Given the description of an element on the screen output the (x, y) to click on. 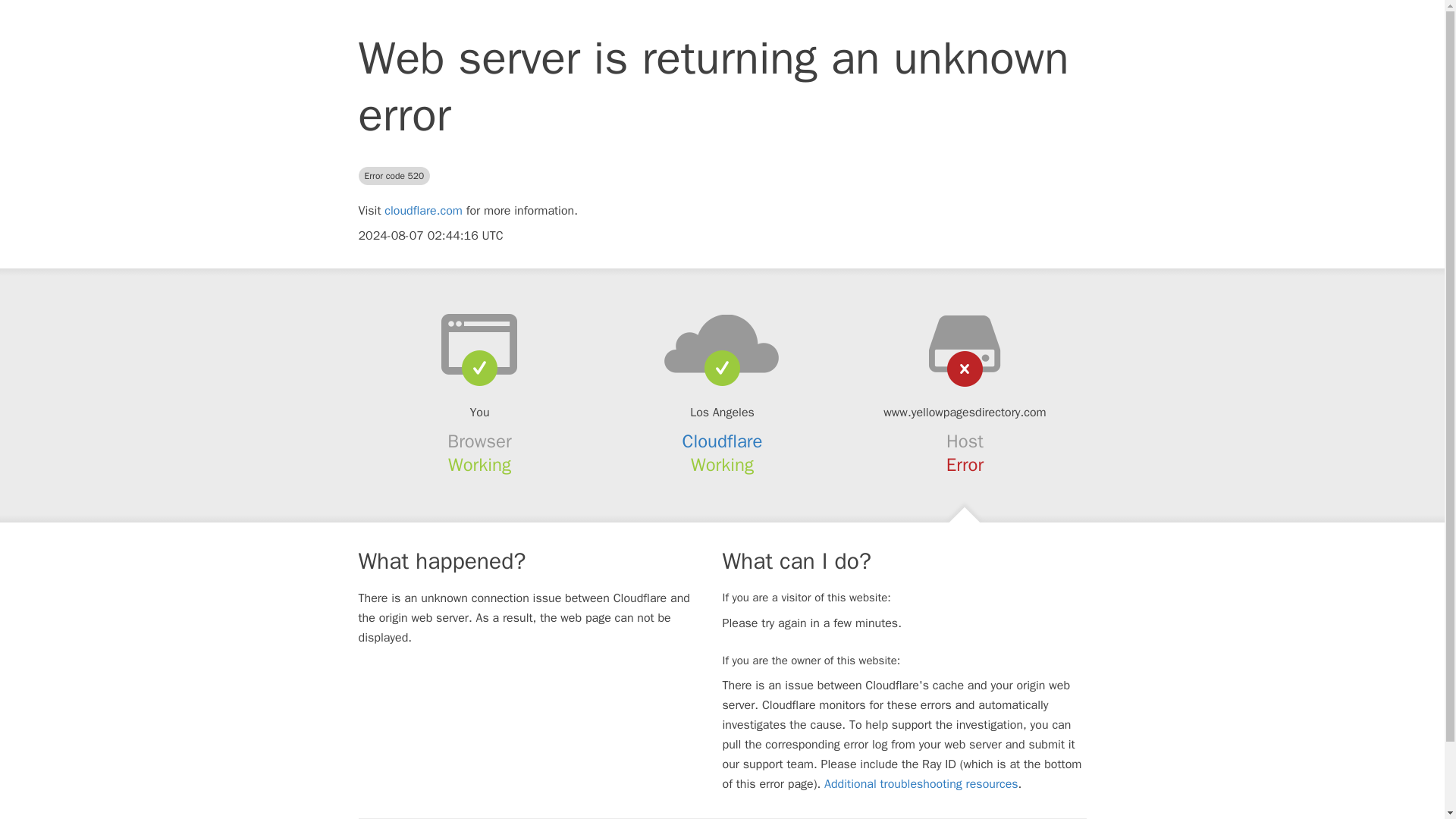
Additional troubleshooting resources (920, 783)
cloudflare.com (423, 210)
Cloudflare (722, 440)
